Given the description of an element on the screen output the (x, y) to click on. 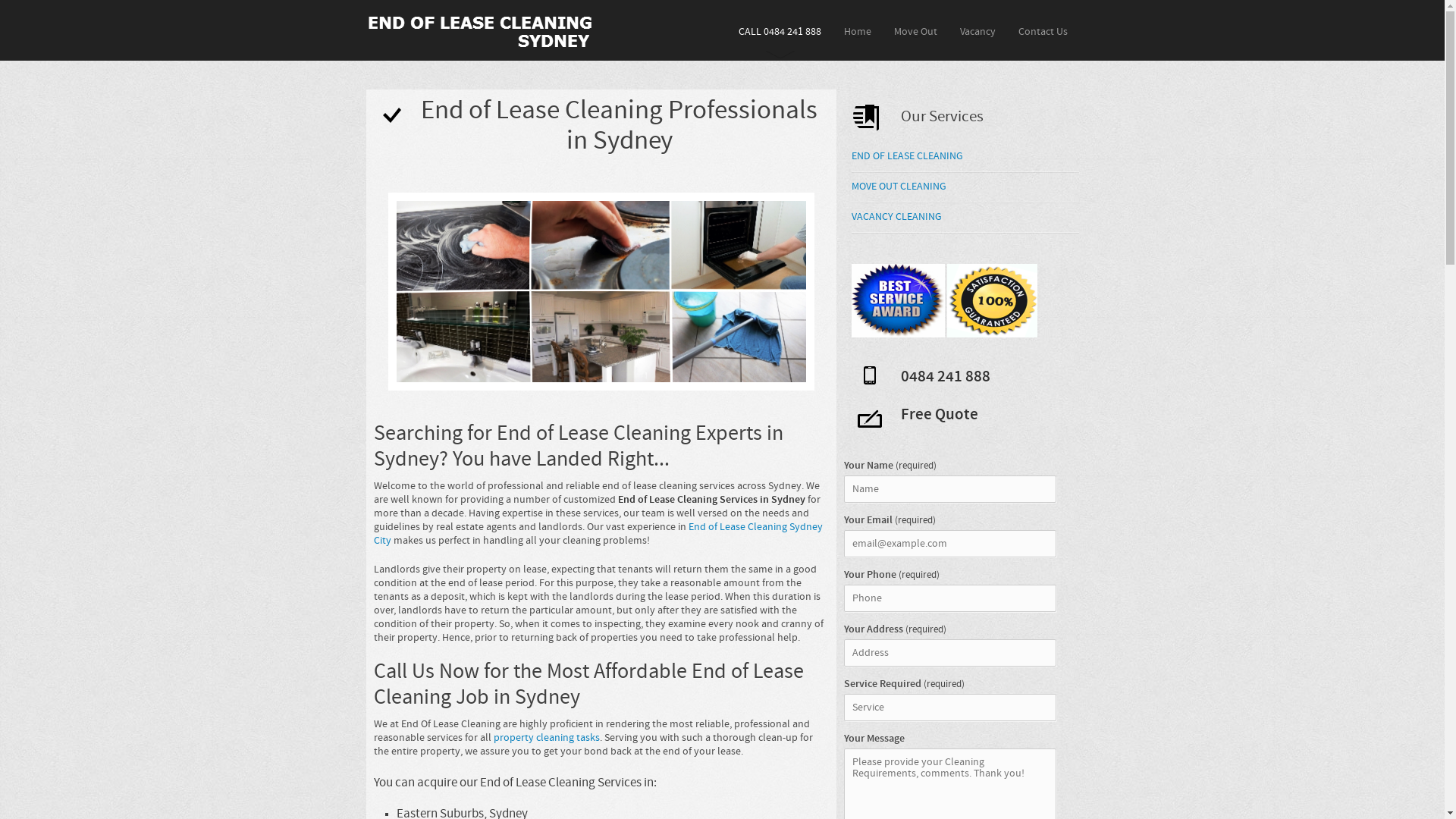
Home Element type: text (857, 29)
CALL 0484 241 888 Element type: text (778, 29)
Move Out Element type: text (915, 29)
Contact Us Element type: text (1043, 29)
End of Lease Cleaning Services Sydney Metro Area Element type: hover (601, 291)
MOVE OUT CLEANING Element type: text (897, 186)
VACANCY CLEANING Element type: text (895, 216)
End of Lease Cleaning Sydney City Element type: text (597, 533)
END OF LEASE CLEANING Element type: text (906, 156)
End of Lease, Move Out, Vacancy Cleaning Sydney Element type: hover (479, 31)
property cleaning tasks Element type: text (545, 737)
Vacancy Element type: text (976, 29)
